Given the description of an element on the screen output the (x, y) to click on. 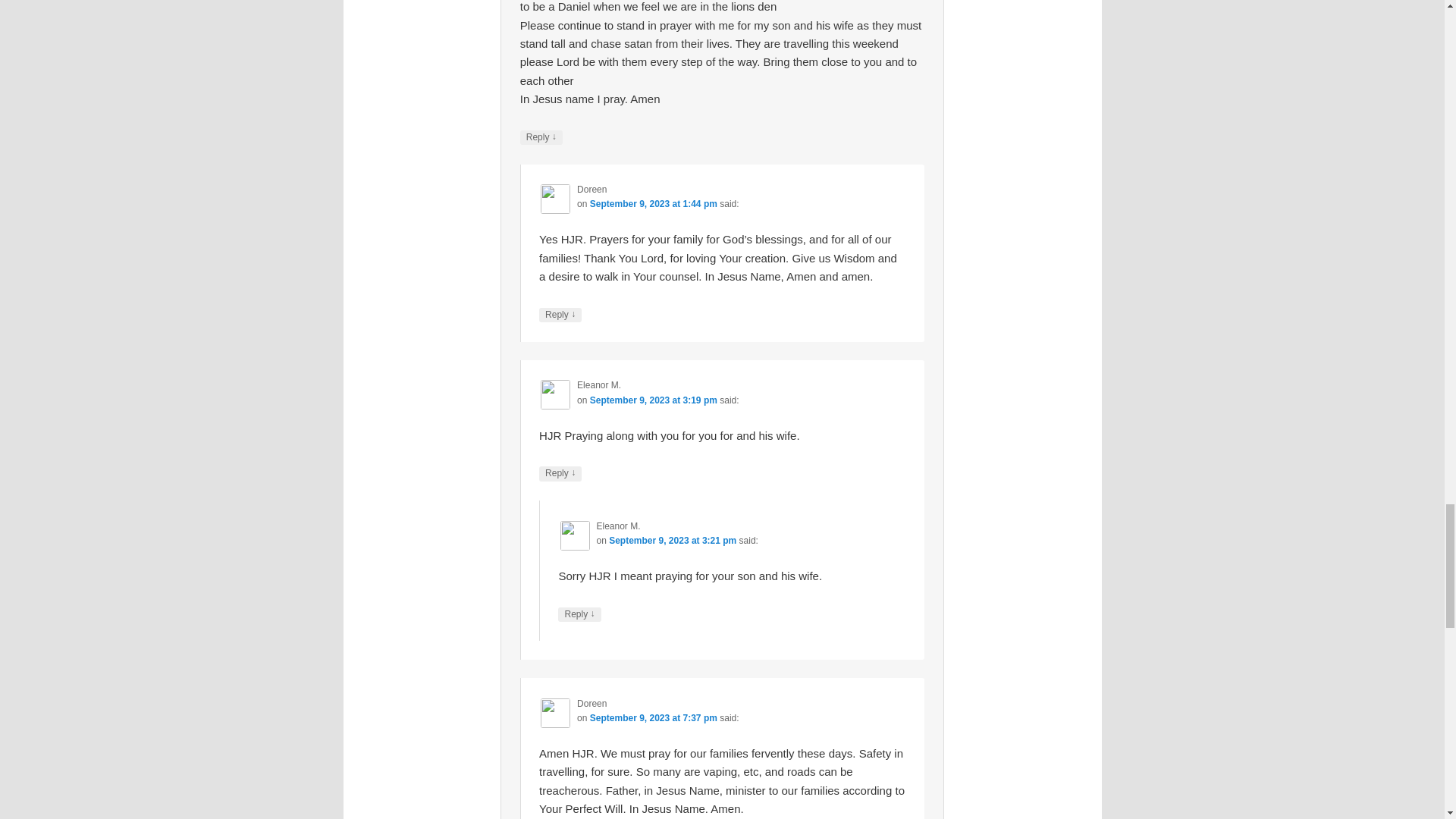
September 9, 2023 at 3:21 pm (672, 540)
September 9, 2023 at 1:44 pm (653, 204)
September 9, 2023 at 3:19 pm (653, 399)
